Given the description of an element on the screen output the (x, y) to click on. 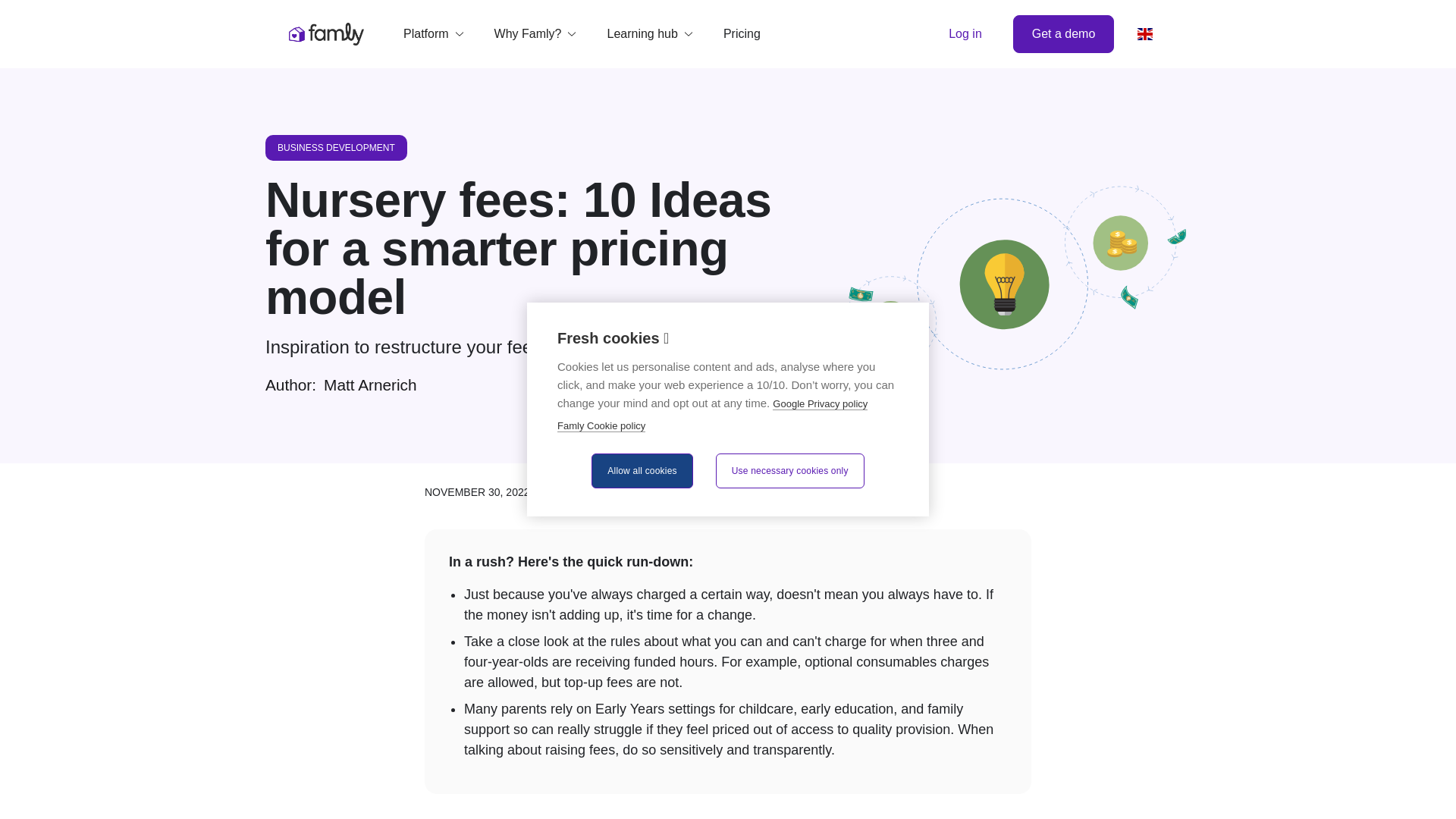
Log in (965, 33)
Pricing (742, 33)
Get a demo (1064, 34)
